Given the description of an element on the screen output the (x, y) to click on. 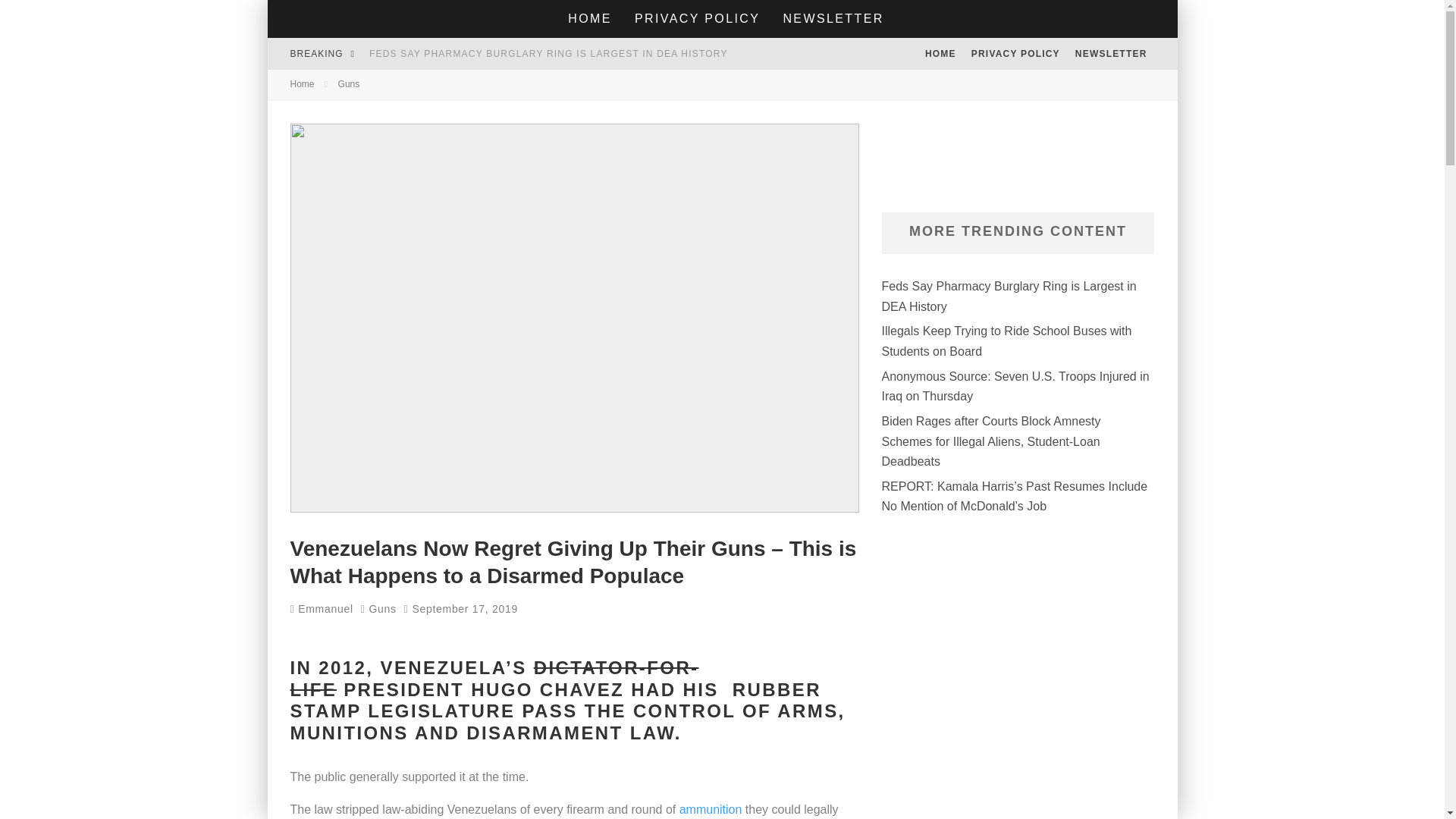
Home (301, 83)
PRIVACY POLICY (1015, 53)
Link added by VigLink (710, 809)
Feds Say Pharmacy Burglary Ring is Largest in DEA History (548, 53)
NEWSLETTER (1110, 53)
NEWSLETTER (833, 18)
HOME (940, 53)
Emmanuel (320, 608)
PRIVACY POLICY (697, 18)
Guns (382, 608)
